Given the description of an element on the screen output the (x, y) to click on. 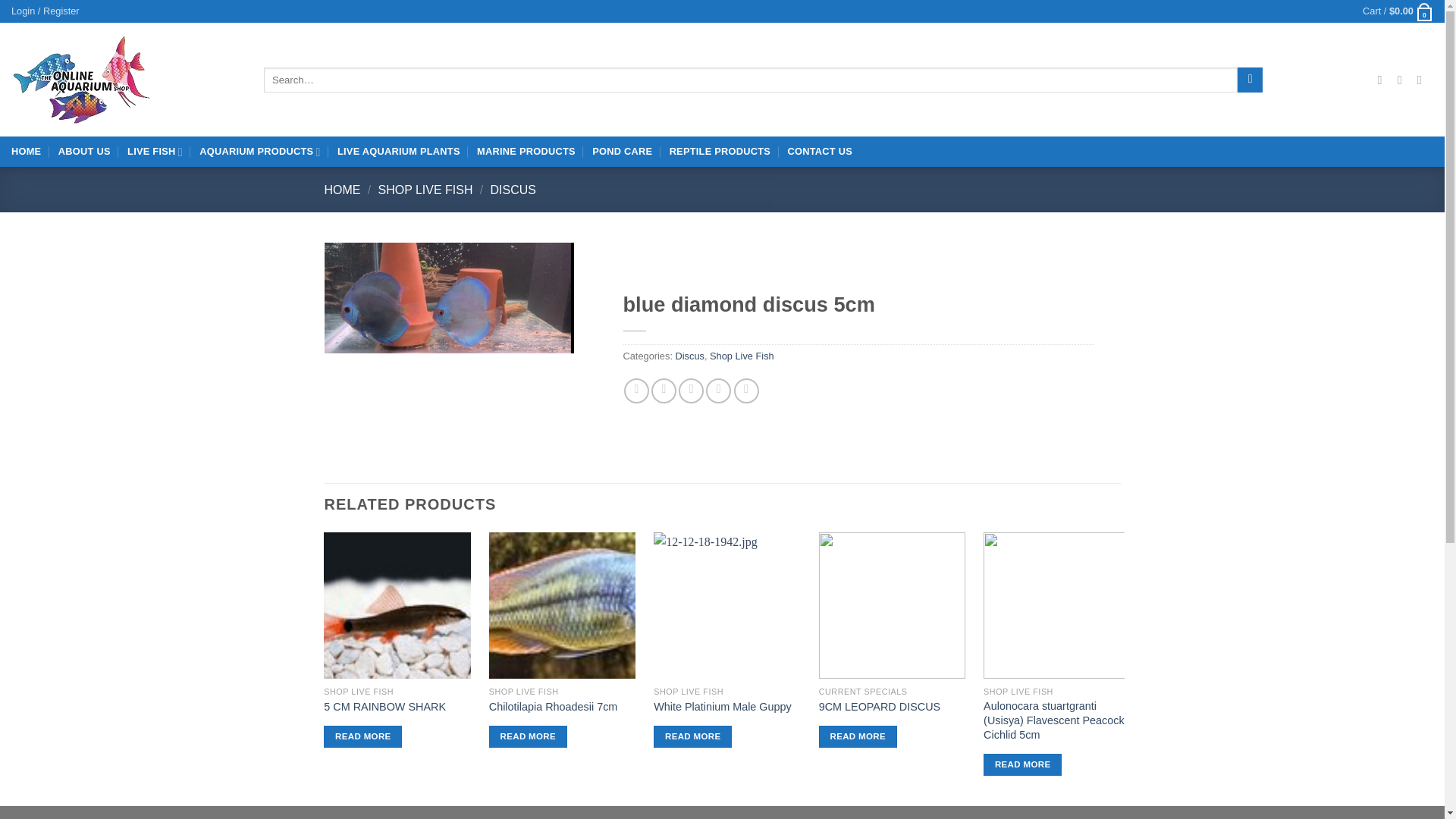
Search (1249, 80)
ABOUT US (84, 151)
Cart (1397, 11)
Follow on Facebook (1383, 79)
Share on Facebook (636, 390)
LIVE FISH (155, 151)
The Online Aquarium Shop - Live Fish (126, 79)
02-5-19-3739.jpg (449, 296)
HOME (25, 151)
Share on Twitter (664, 390)
